Given the description of an element on the screen output the (x, y) to click on. 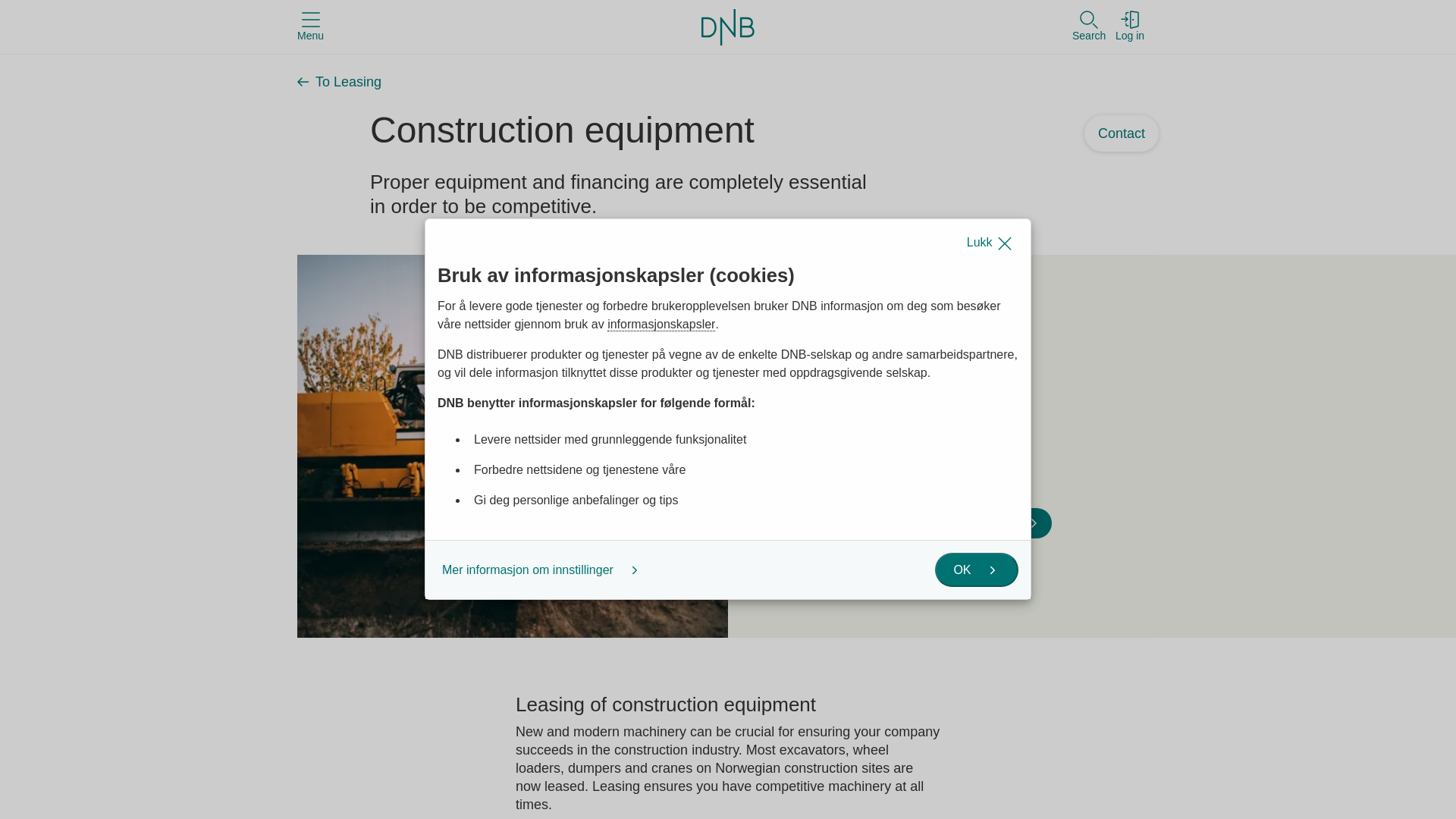
Go to DNB's website (727, 26)
Contact (1121, 133)
